Given the description of an element on the screen output the (x, y) to click on. 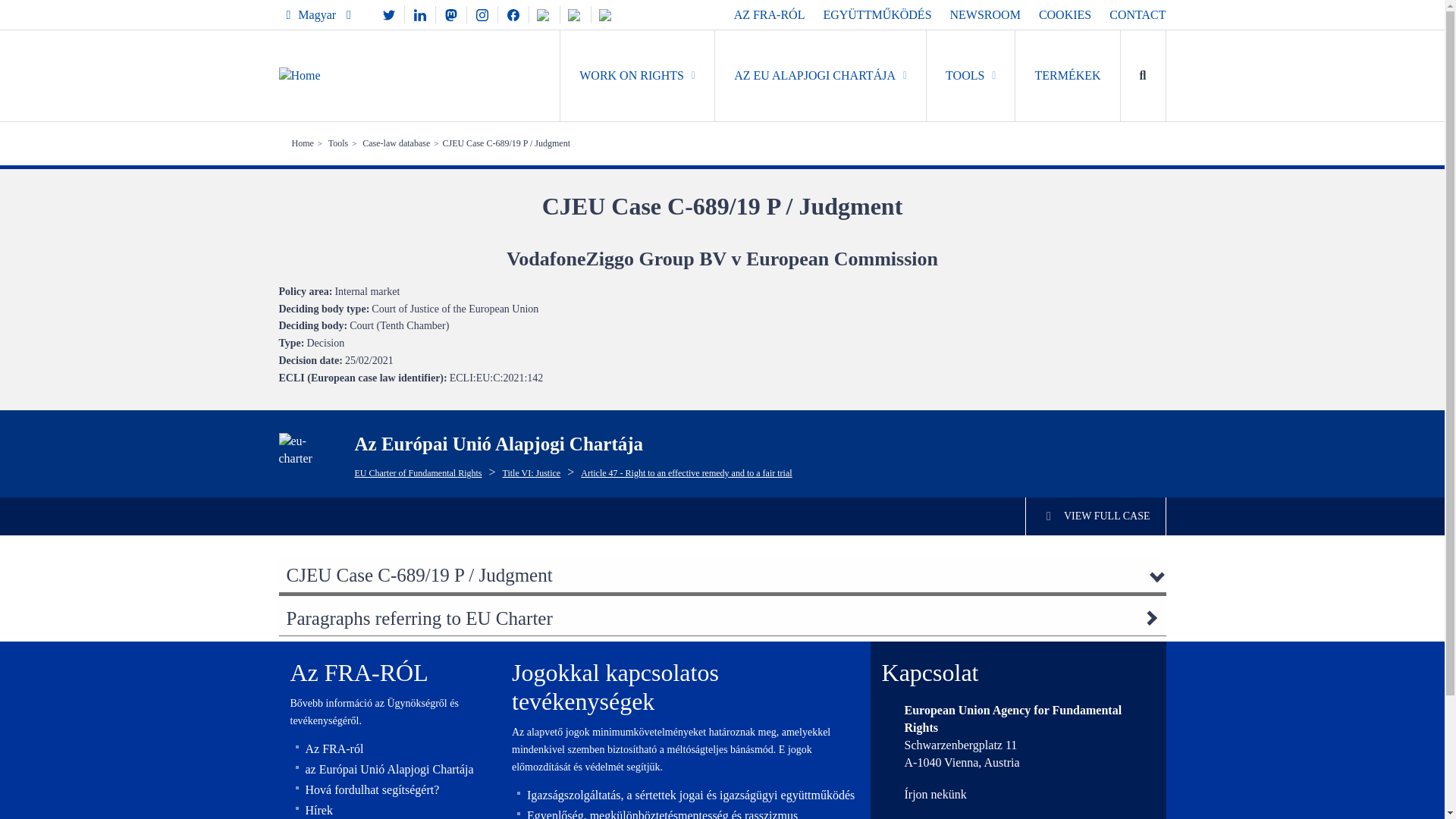
FRA's Instagram channel (482, 13)
Twitter (389, 13)
FRA's LinkedIn channel (419, 13)
FRA's PeerTube channel (575, 13)
PeerTube (575, 13)
FRA's Mastodon channel (450, 13)
NEWSROOM (985, 14)
FRA's YouTube channel (544, 13)
LinkedIn (419, 13)
Facebook (512, 13)
Mastodon (450, 13)
COOKIES (1064, 14)
Newsletter (606, 13)
FRA's Twitter channel (389, 13)
